Given the description of an element on the screen output the (x, y) to click on. 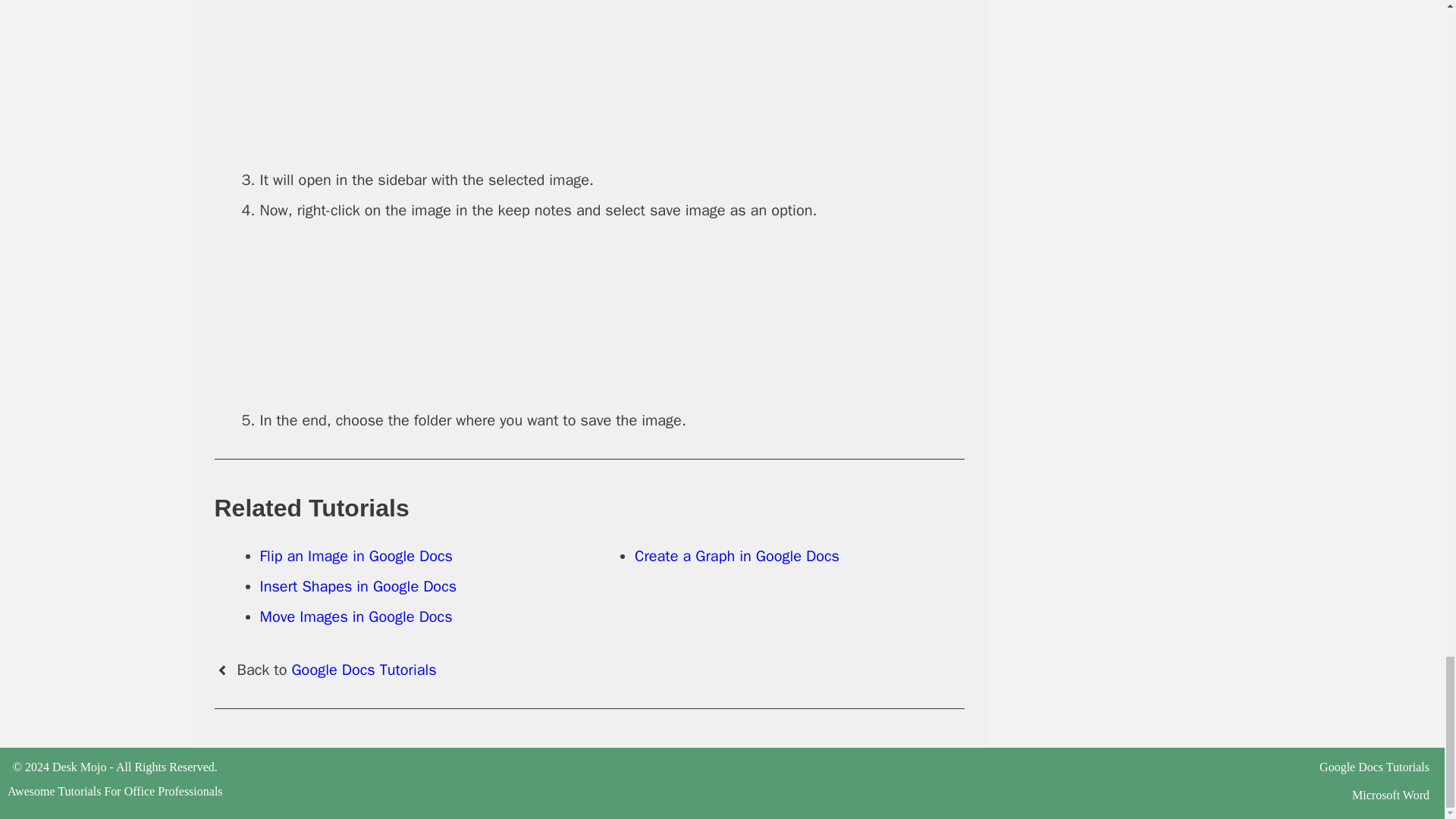
Insert Shapes in Google Docs (358, 586)
click-save-image-as (611, 315)
right-click-and-select-save-to-keep (611, 74)
Flip an Image in Google Docs (355, 556)
Create a Graph in Google Docs (737, 556)
Google Docs Tutorials (1374, 766)
Move Images in Google Docs (355, 616)
Desk Mojo (79, 766)
Google Docs Tutorials (363, 669)
